Given the description of an element on the screen output the (x, y) to click on. 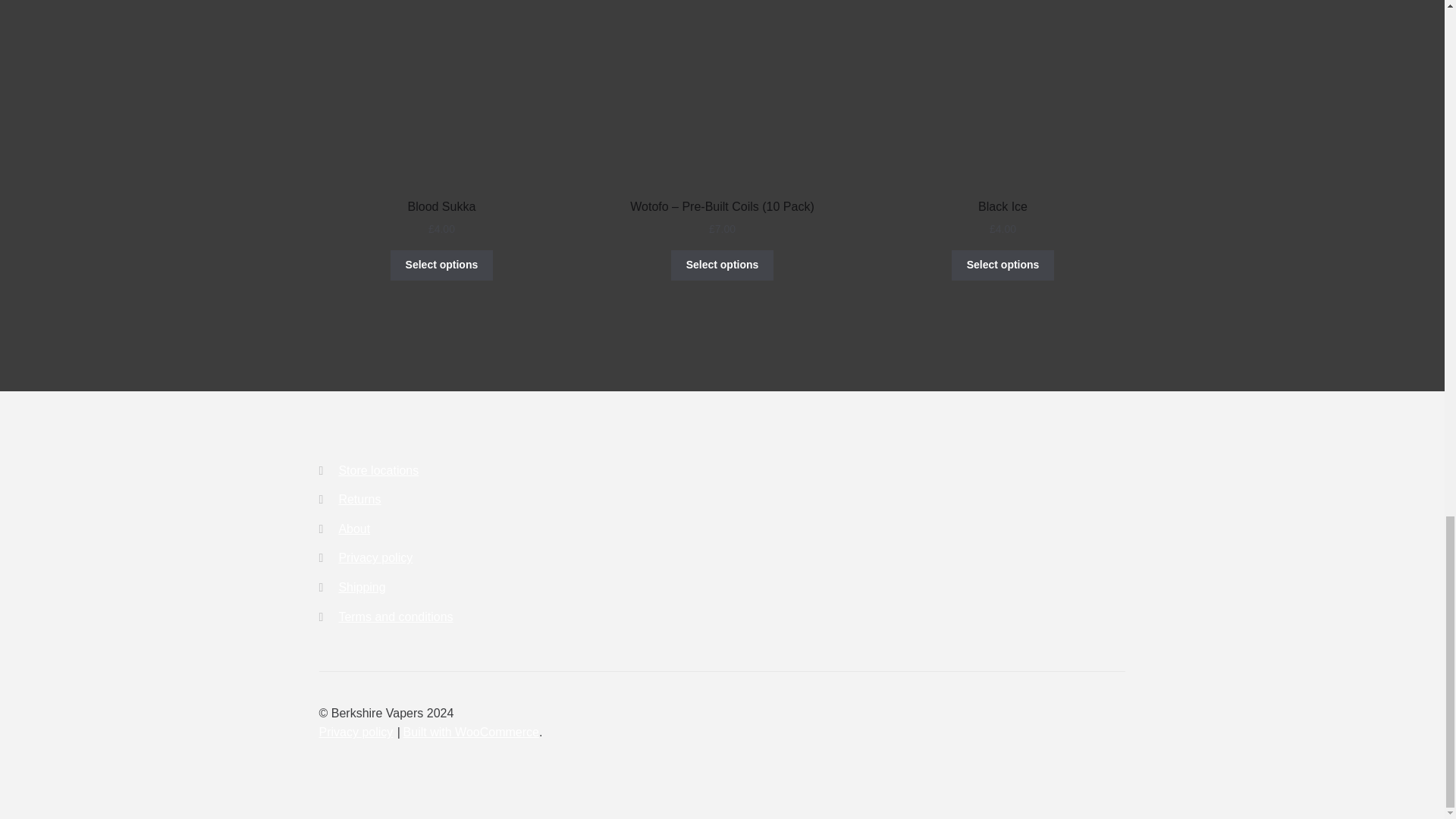
WooCommerce - The Best eCommerce Platform for WordPress (470, 731)
